Given the description of an element on the screen output the (x, y) to click on. 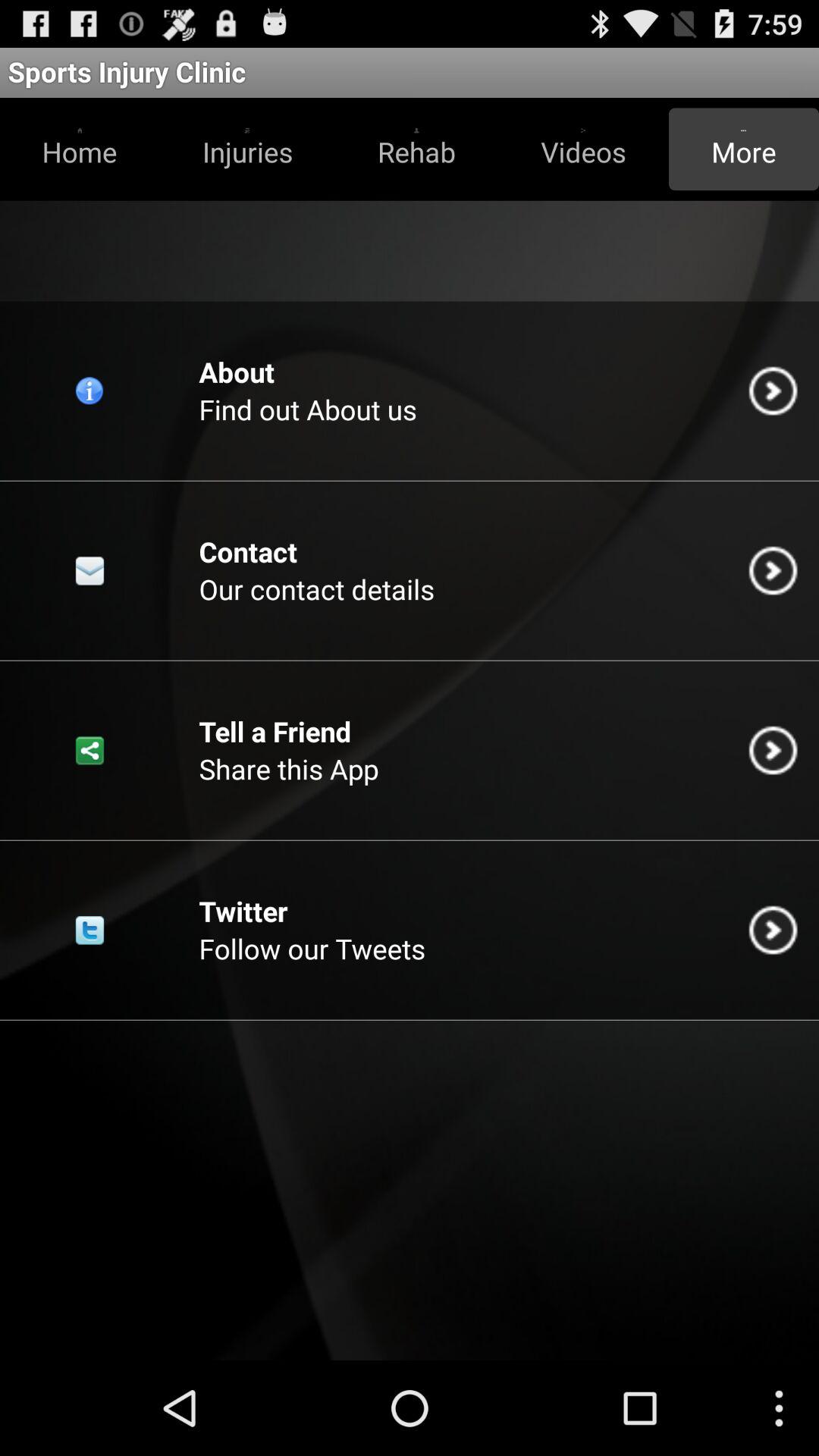
jump to follow our tweets item (312, 948)
